Given the description of an element on the screen output the (x, y) to click on. 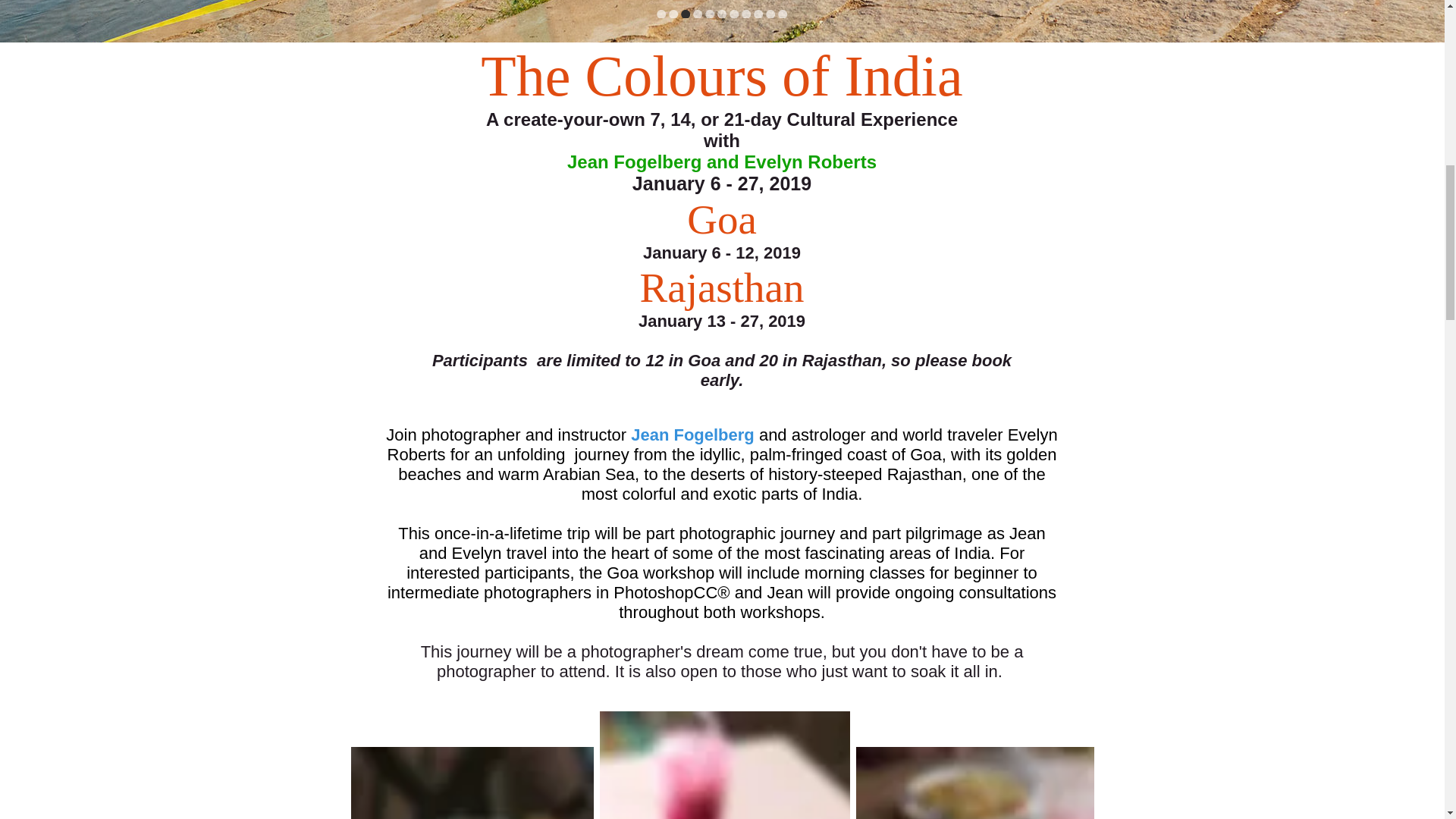
Jean Fogelberg (692, 434)
